Given the description of an element on the screen output the (x, y) to click on. 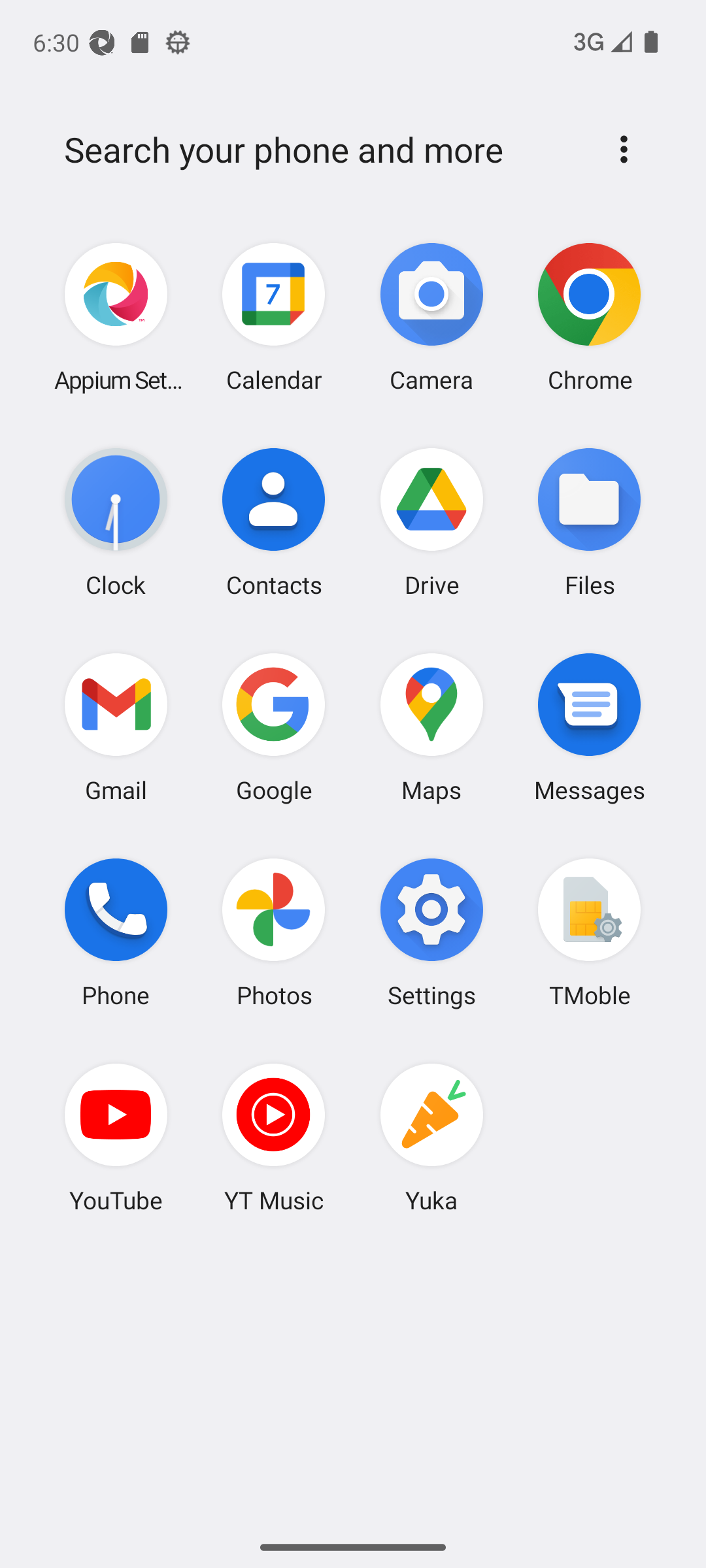
Search your phone and more (321, 149)
Preferences (623, 149)
Appium Settings (115, 317)
Calendar (273, 317)
Camera (431, 317)
Chrome (589, 317)
Clock (115, 522)
Contacts (273, 522)
Drive (431, 522)
Files (589, 522)
Gmail (115, 726)
Google (273, 726)
Maps (431, 726)
Messages (589, 726)
Phone (115, 931)
Photos (273, 931)
Settings (431, 931)
TMoble (589, 931)
YouTube (115, 1137)
YT Music (273, 1137)
Yuka (431, 1137)
